Given the description of an element on the screen output the (x, y) to click on. 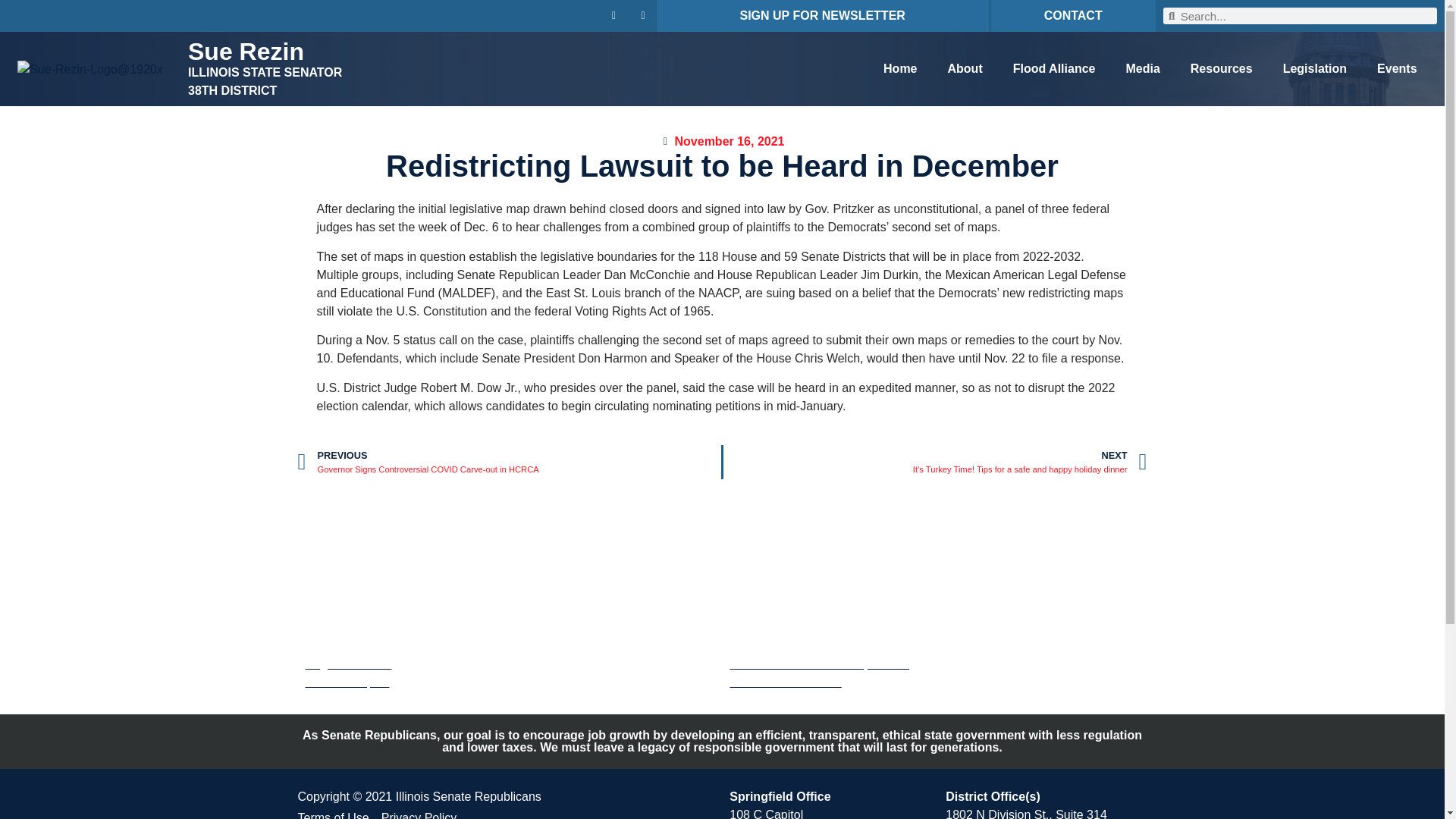
Resources (1221, 68)
Media (1141, 68)
About (965, 68)
Home (899, 68)
Legislation (1314, 68)
Events (1396, 68)
SIGN UP FOR NEWSLETTER (821, 15)
Sue Rezin (245, 51)
CONTACT (1072, 15)
Flood Alliance (1053, 68)
